Given the description of an element on the screen output the (x, y) to click on. 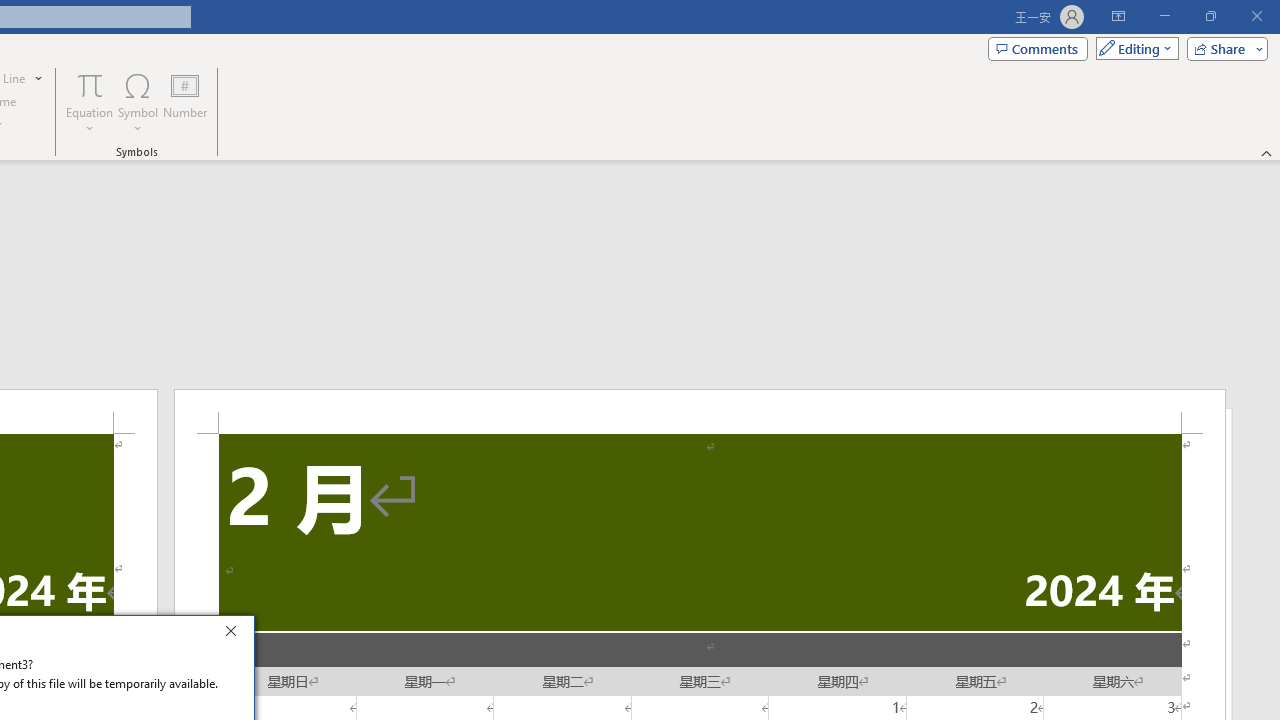
Header -Section 2- (700, 411)
